Given the description of an element on the screen output the (x, y) to click on. 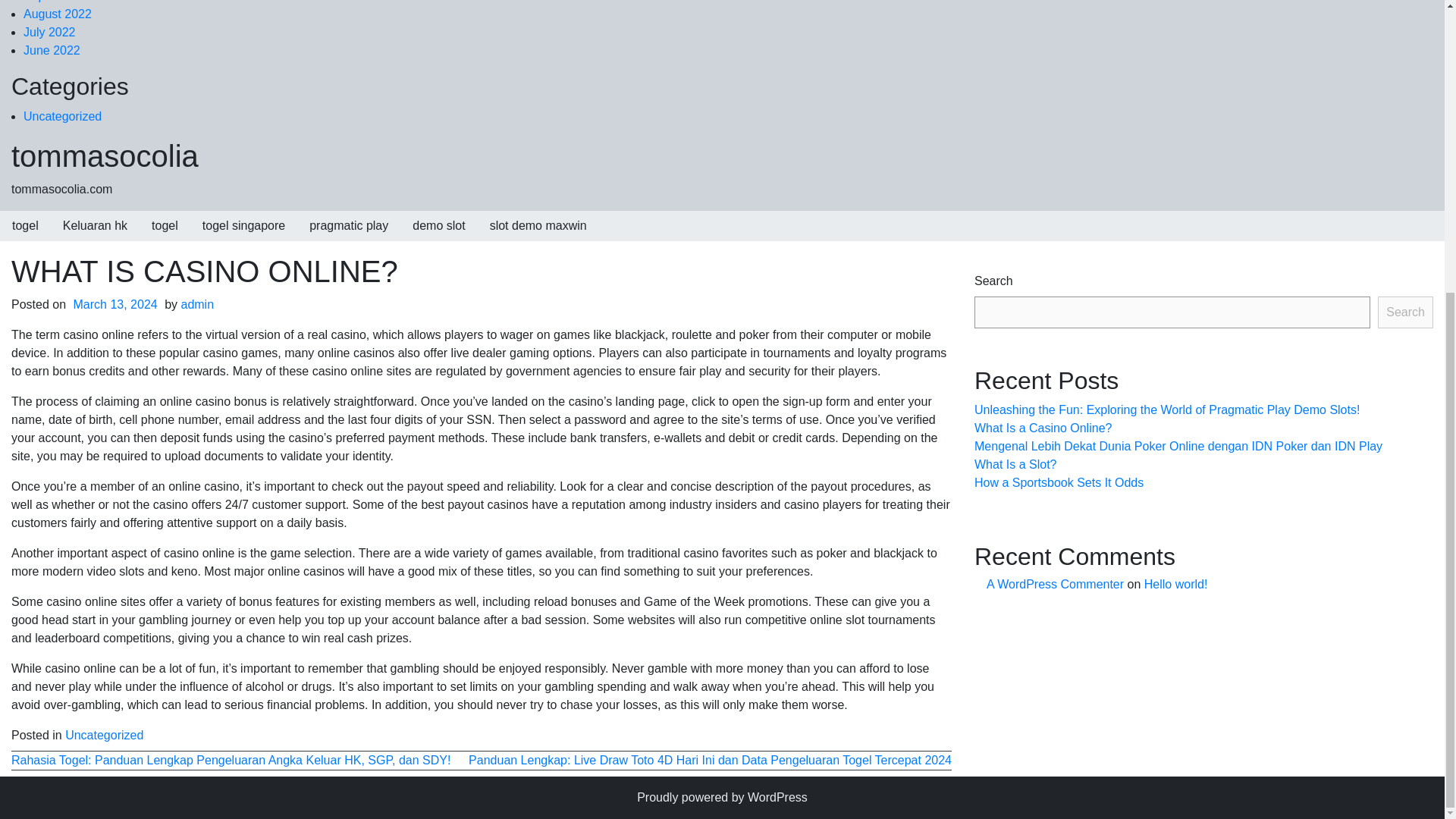
admin (197, 304)
March 13, 2024 (115, 304)
June 2022 (51, 50)
togel (25, 225)
Uncategorized (62, 115)
August 2022 (57, 13)
togel (164, 225)
September 2022 (68, 1)
demo slot (438, 225)
Uncategorized (103, 735)
togel singapore (243, 225)
Keluaran hk (94, 225)
pragmatic play (348, 225)
tommasocolia (104, 155)
July 2022 (49, 31)
